Given the description of an element on the screen output the (x, y) to click on. 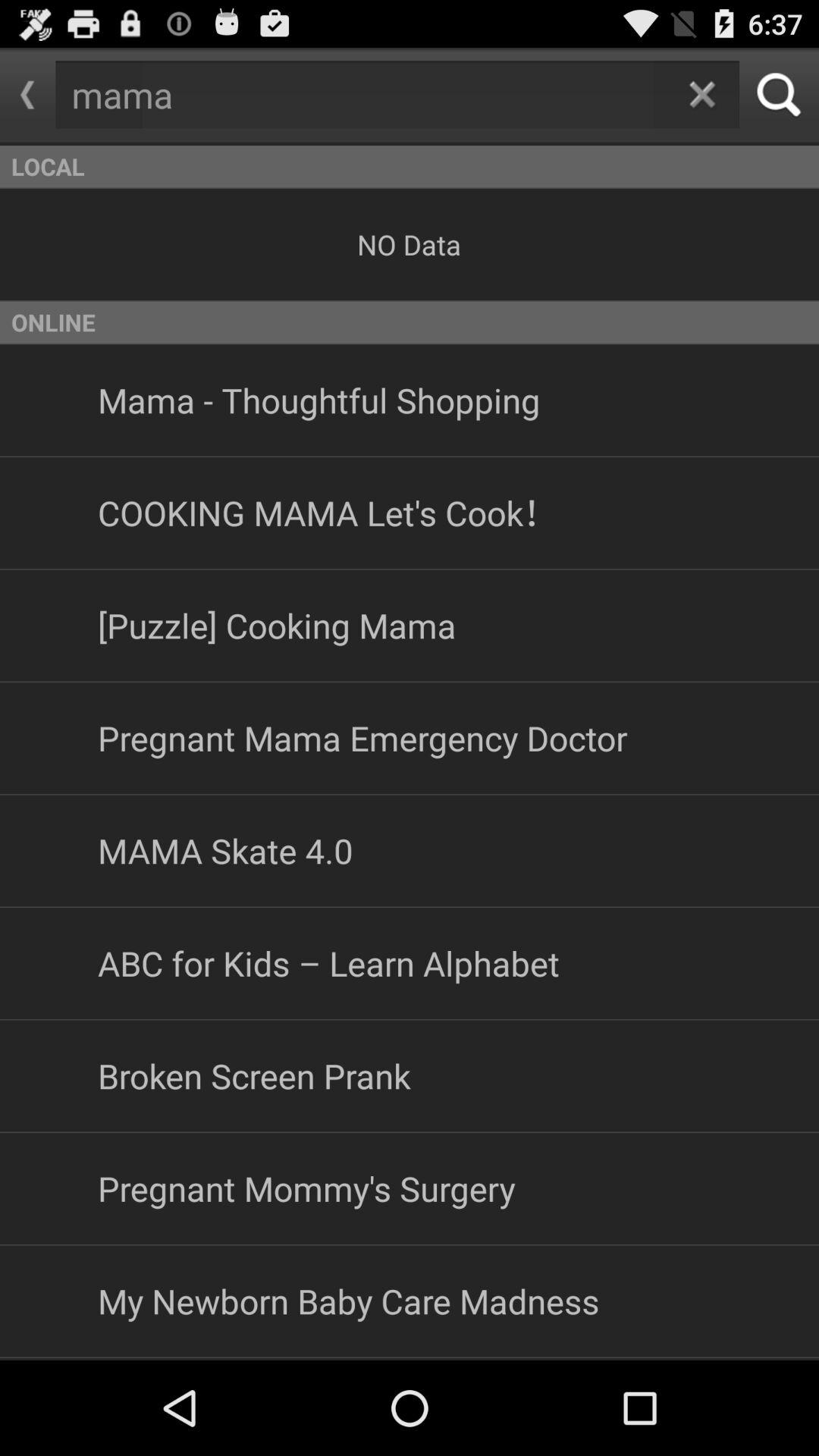
clears the text (701, 94)
